Given the description of an element on the screen output the (x, y) to click on. 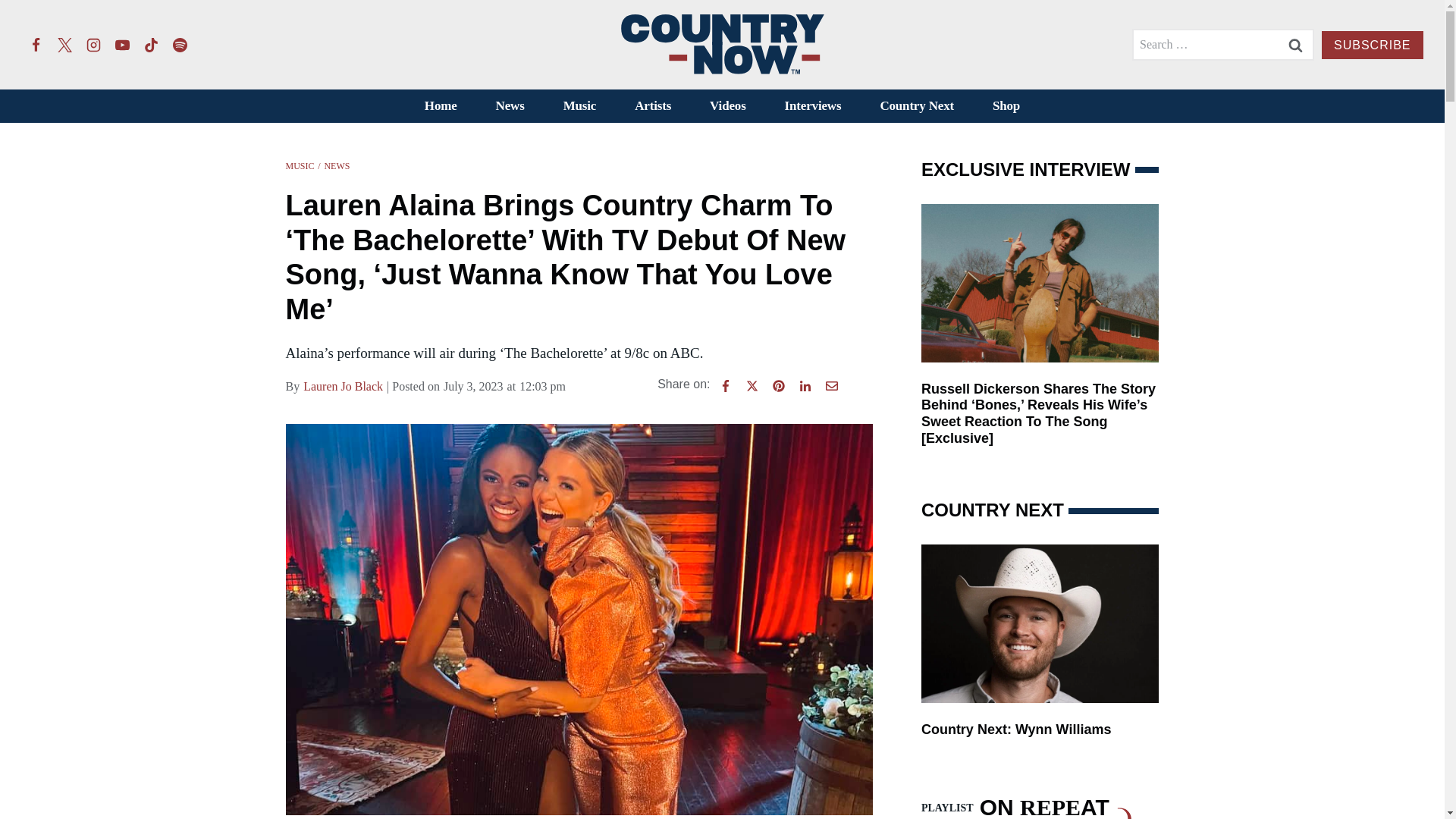
Interviews (812, 105)
Search (1295, 44)
Shop (1005, 105)
Home (440, 105)
Country Next (917, 105)
MUSIC (299, 165)
Search (1295, 44)
Music (579, 105)
SUBSCRIBE (1372, 44)
Artists (652, 105)
NEWS (336, 165)
Videos (727, 105)
Search (1295, 44)
News (509, 105)
Lauren Jo Black (342, 386)
